Given the description of an element on the screen output the (x, y) to click on. 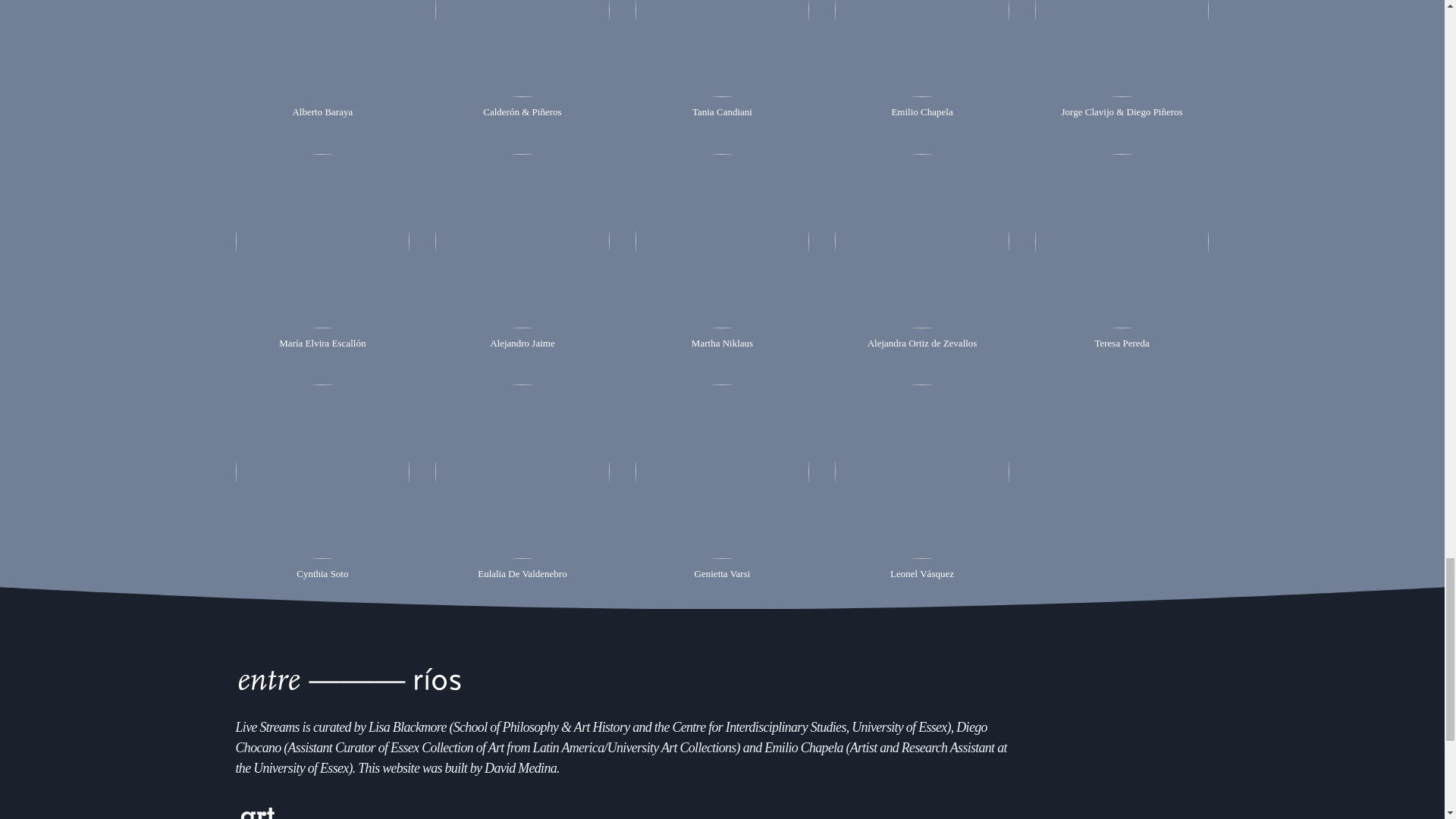
Alberto Baraya (322, 63)
Tania Candiani (721, 63)
Lisa Blackmore (407, 726)
Emilio Chapela (921, 63)
David Medina (520, 767)
